Given the description of an element on the screen output the (x, y) to click on. 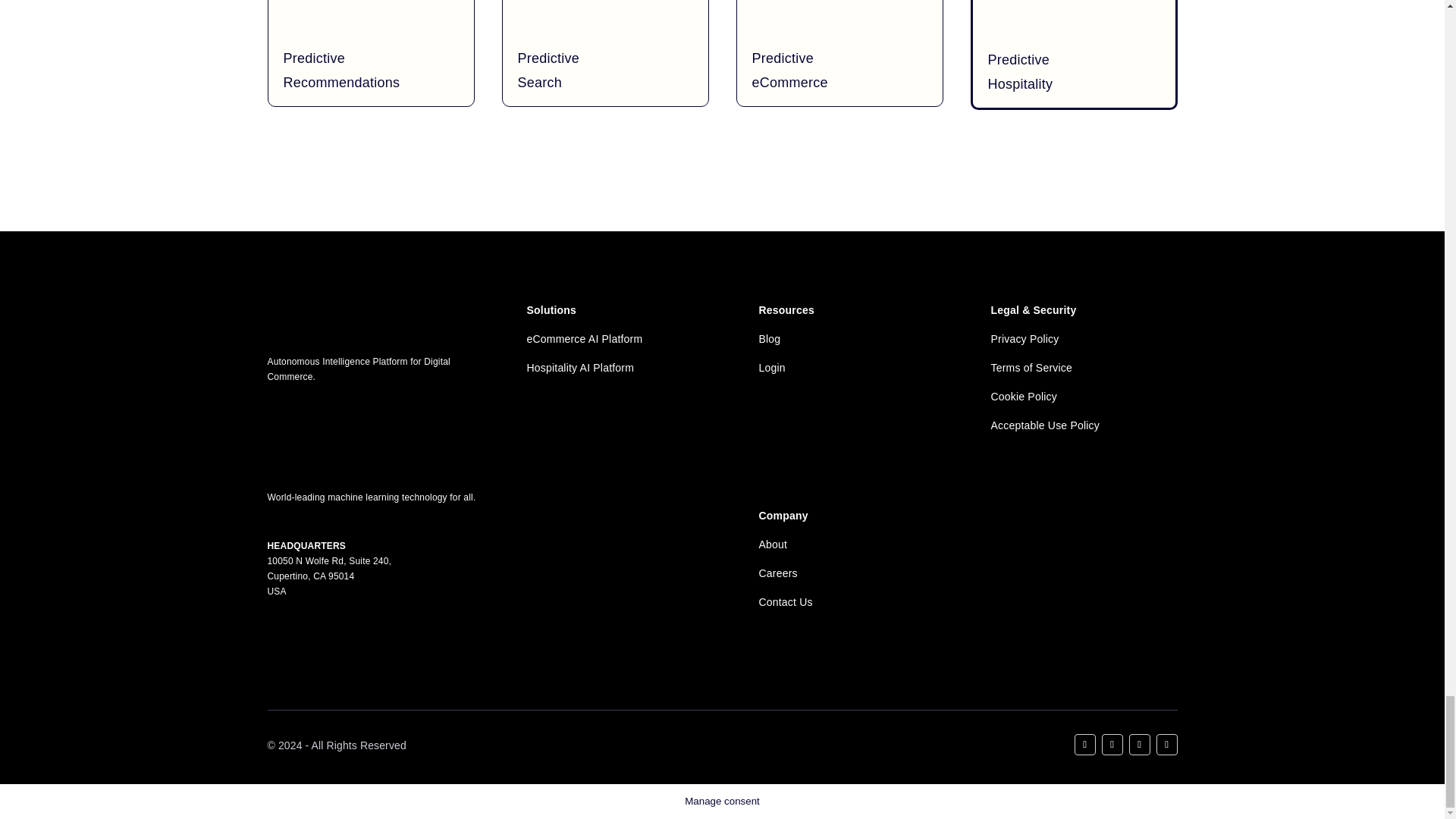
Group 1390 (314, 437)
Follow on LinkedIn (1084, 744)
Follow on Youtube (1139, 744)
Follow on Facebook (1166, 744)
Follow on X (1111, 744)
